Given the description of an element on the screen output the (x, y) to click on. 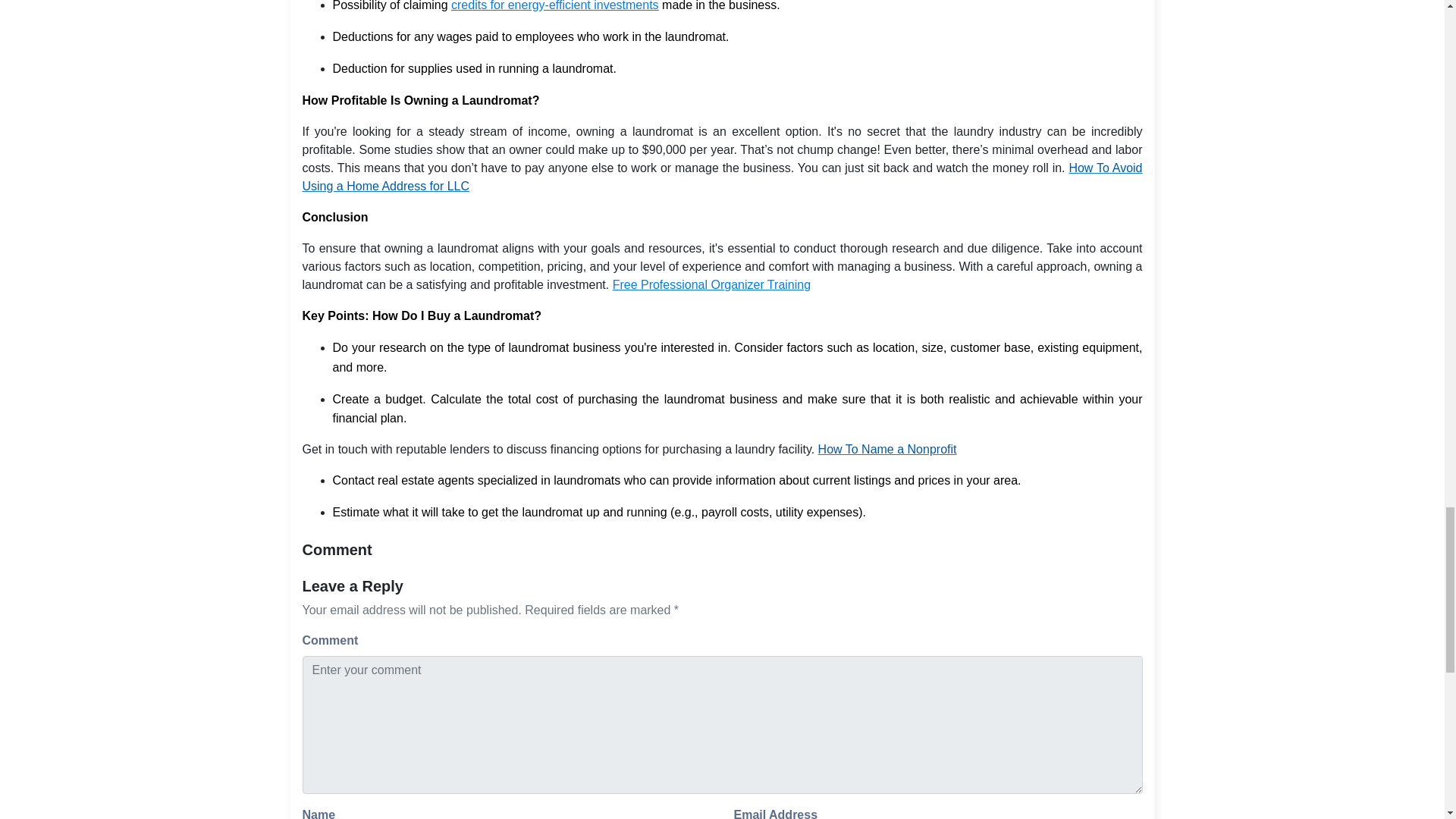
How To Avoid Using a Home Address for LLC (721, 176)
How To Name a Nonprofit (887, 449)
Free Professional Organizer Training (711, 284)
credits for energy-efficient investments (555, 6)
